Given the description of an element on the screen output the (x, y) to click on. 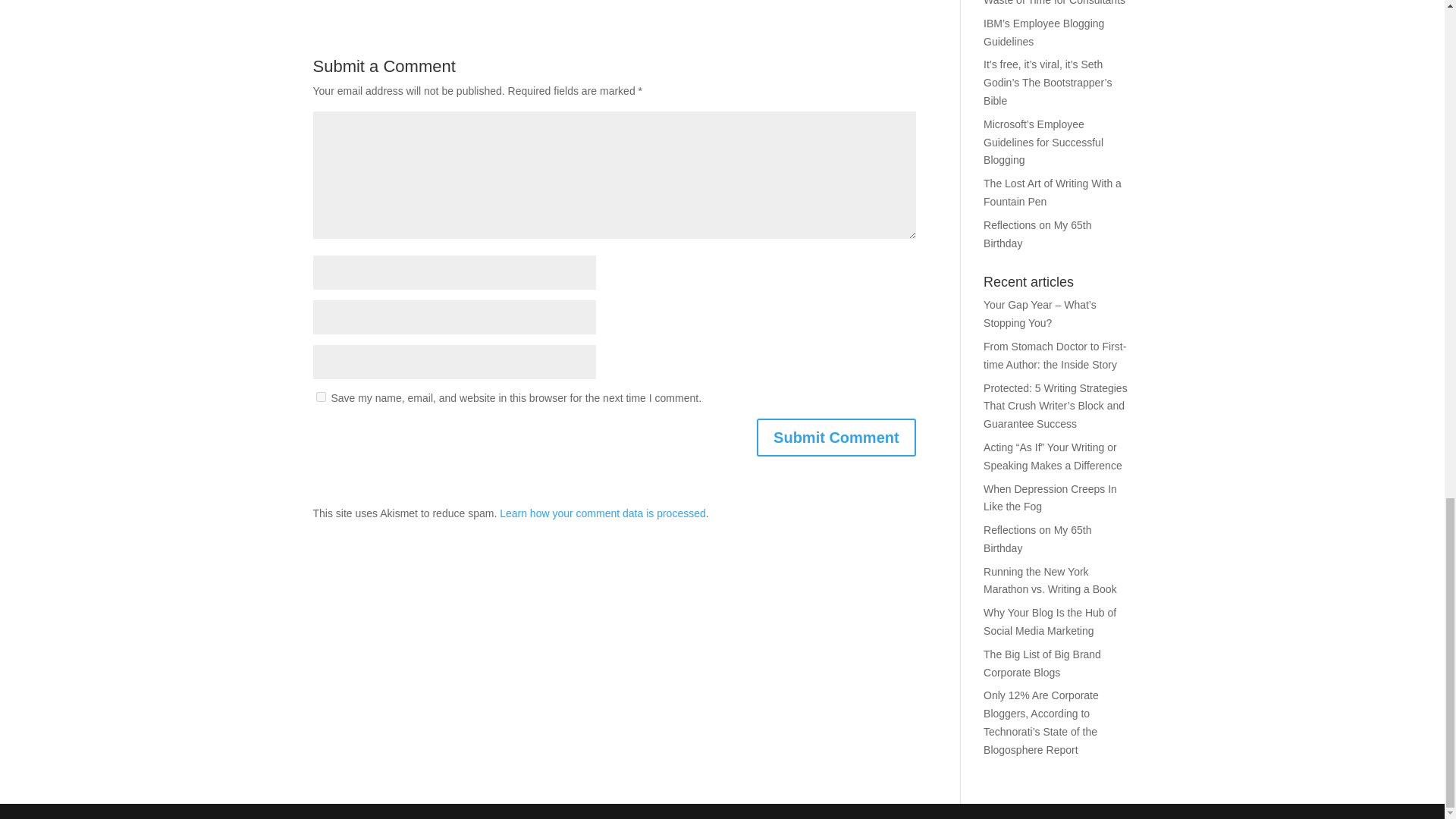
yes (319, 397)
Submit Comment (836, 437)
